Given the description of an element on the screen output the (x, y) to click on. 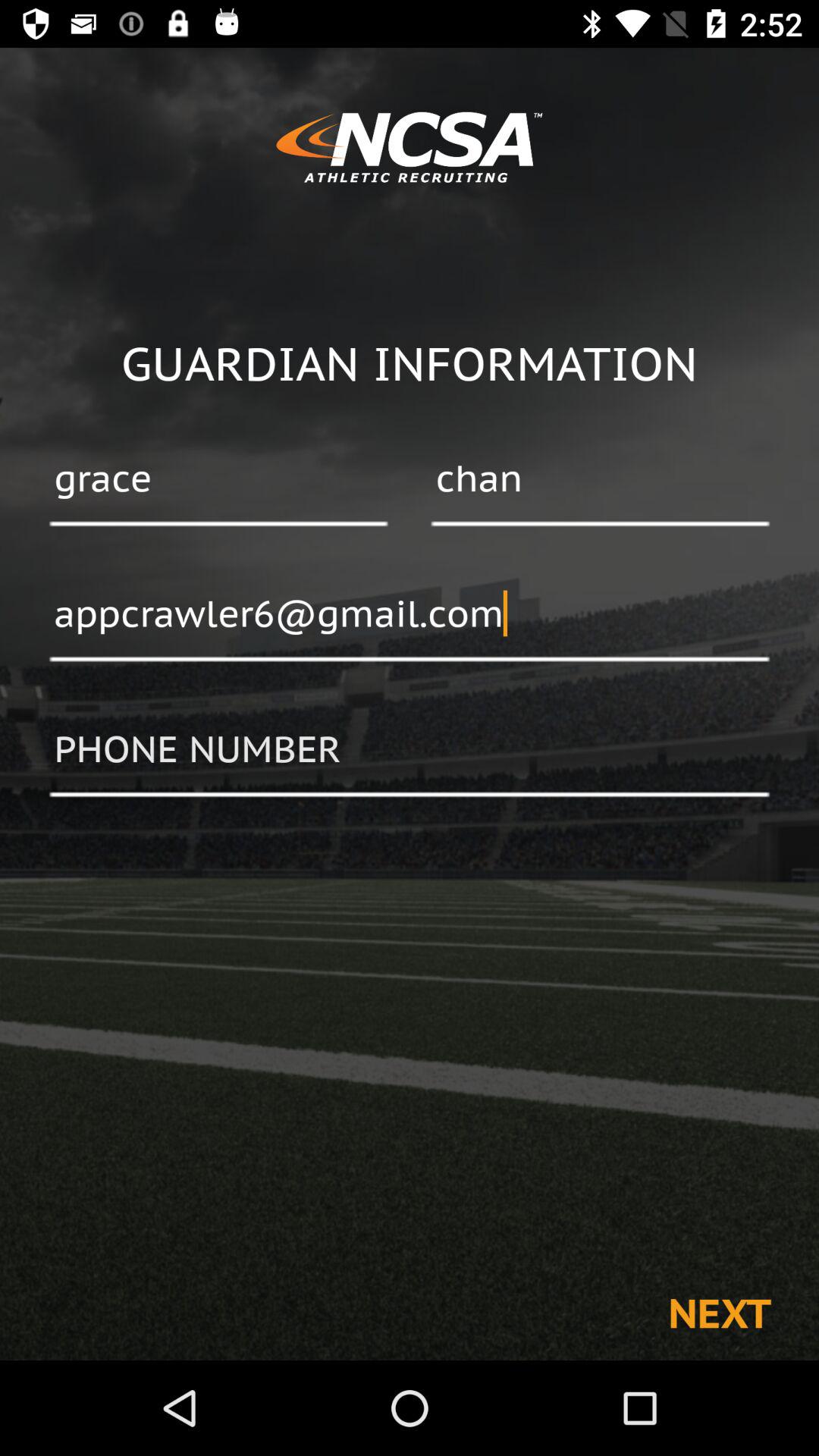
swipe until grace (218, 479)
